Given the description of an element on the screen output the (x, y) to click on. 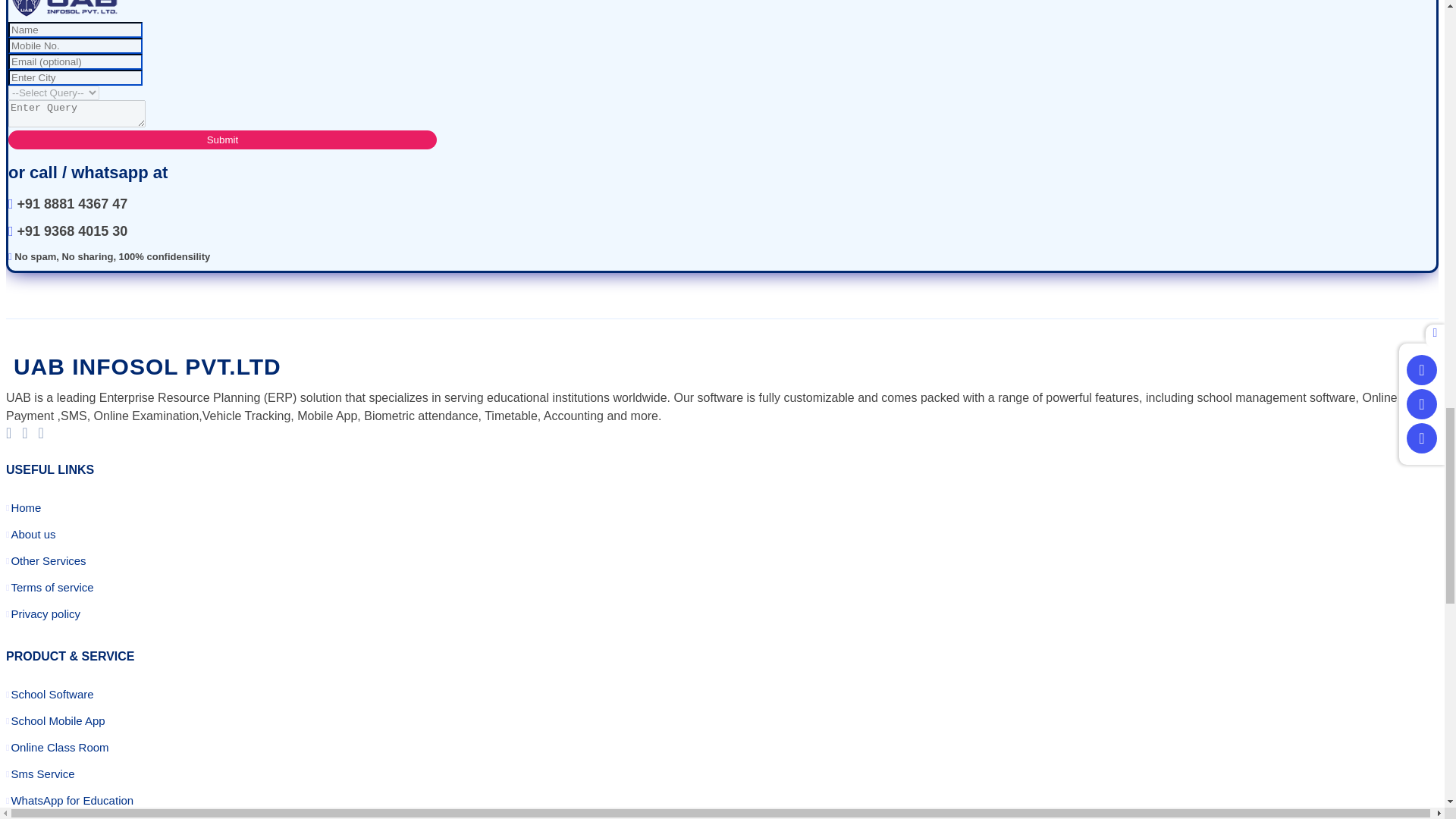
Online Class Room (58, 747)
Home (25, 507)
Other Services (47, 560)
Sms Service (42, 773)
School Mobile App (57, 720)
Terms of service (51, 586)
WhatsApp for Education (71, 799)
Privacy policy (45, 613)
UAB INFOSOL PVT.LTD (143, 370)
Submit (222, 139)
